Given the description of an element on the screen output the (x, y) to click on. 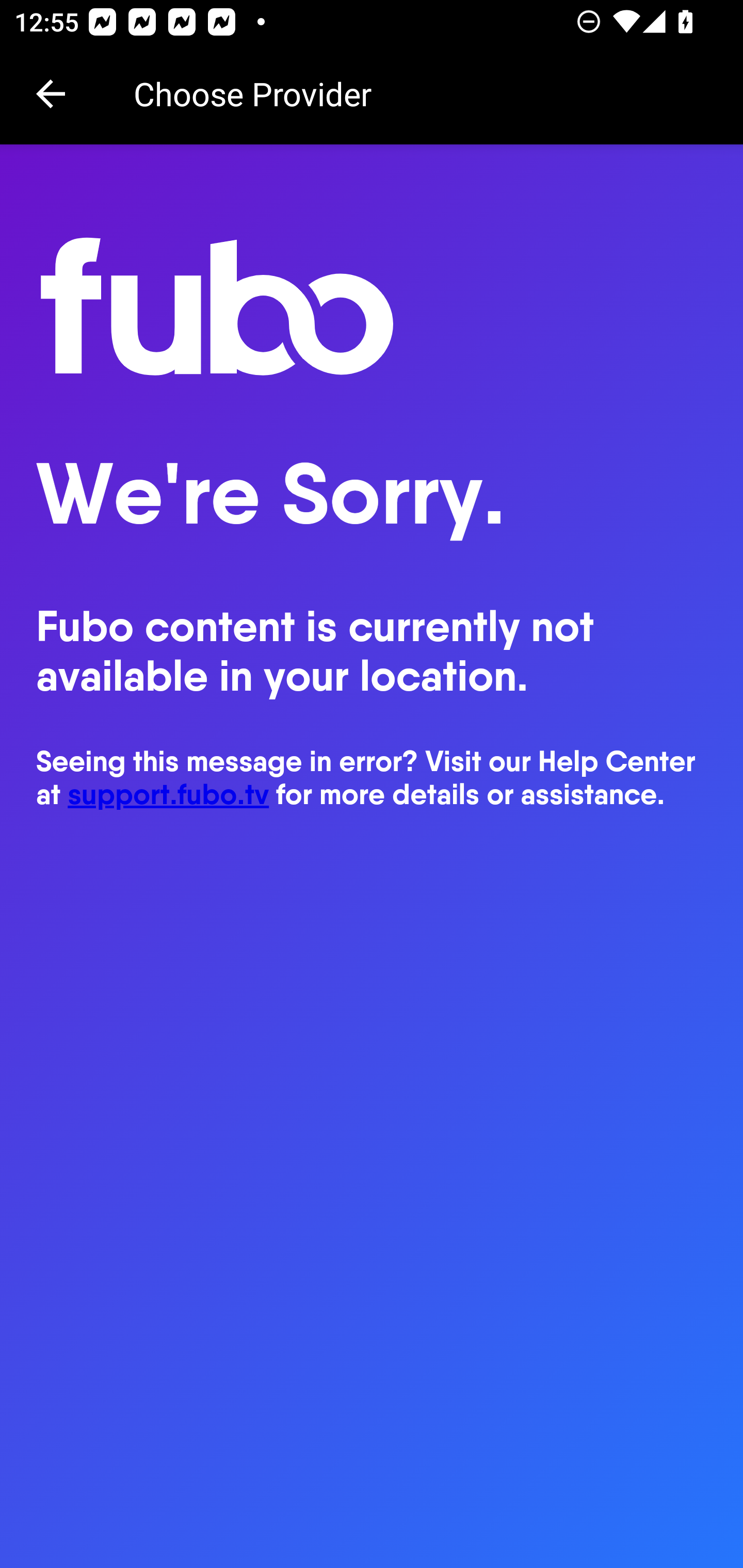
Navigate up (50, 93)
support.fubo.tv (168, 793)
